Given the description of an element on the screen output the (x, y) to click on. 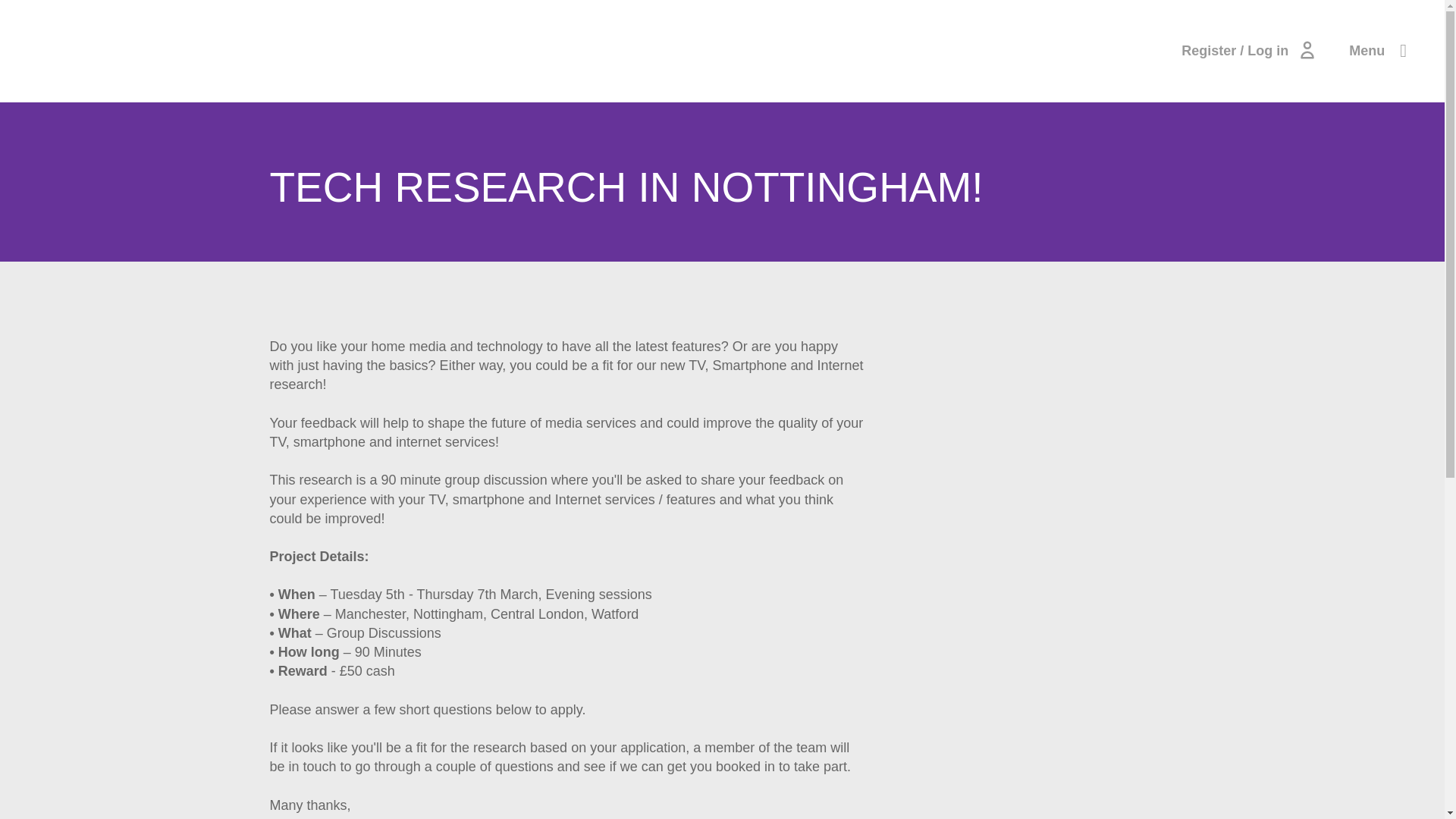
Menu (1366, 49)
